Given the description of an element on the screen output the (x, y) to click on. 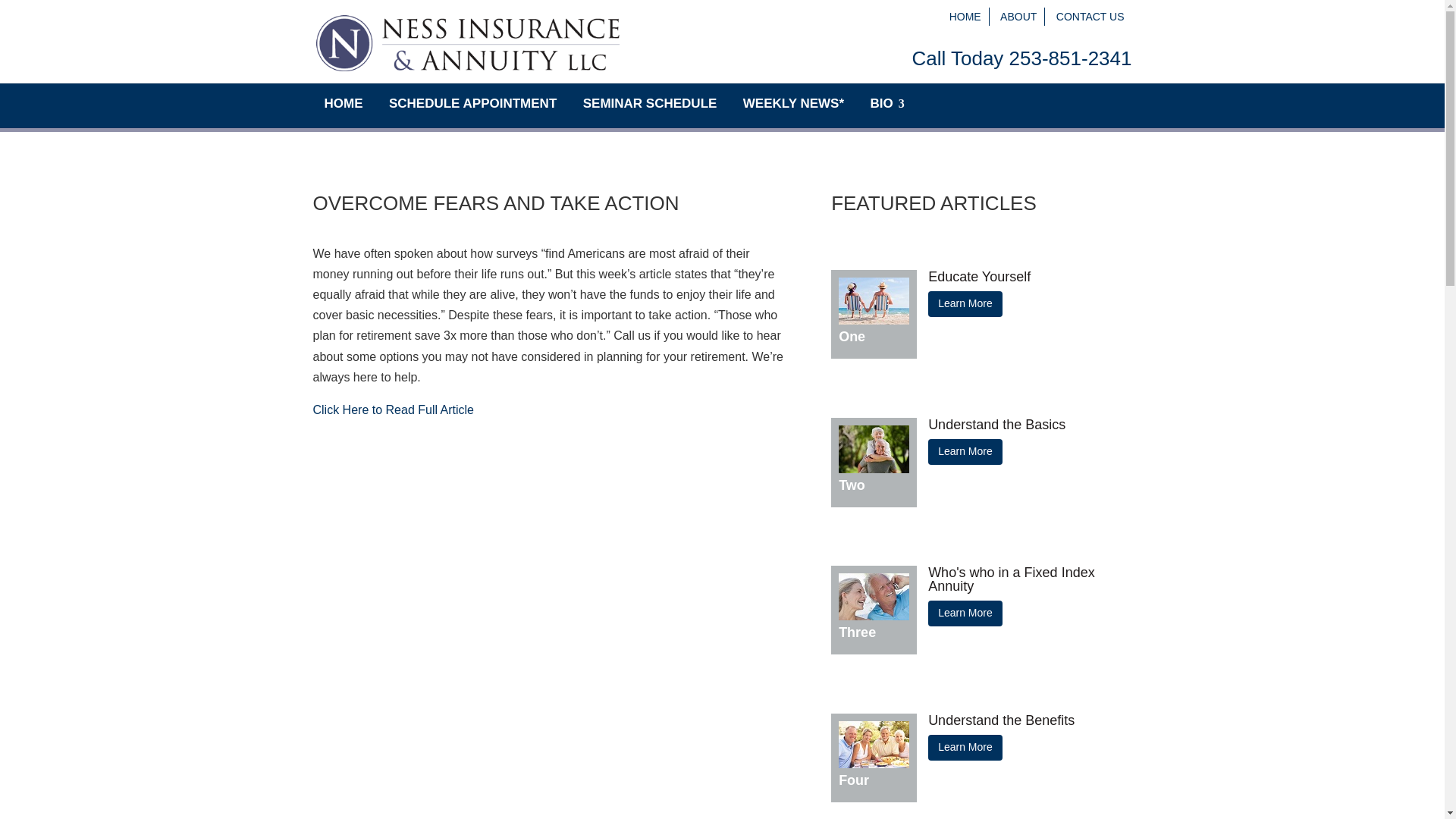
ABOUT (1017, 16)
Call Today 253-851-2341 (1021, 57)
Learn More (965, 451)
HOME (965, 16)
SEMINAR SCHEDULE (650, 103)
Learn More (965, 303)
SCHEDULE APPOINTMENT (472, 103)
Learn More (965, 747)
Click Here to Read Full Article (393, 409)
HOME (343, 103)
Learn More (965, 613)
BIO (881, 103)
CONTACT US (1090, 16)
